Given the description of an element on the screen output the (x, y) to click on. 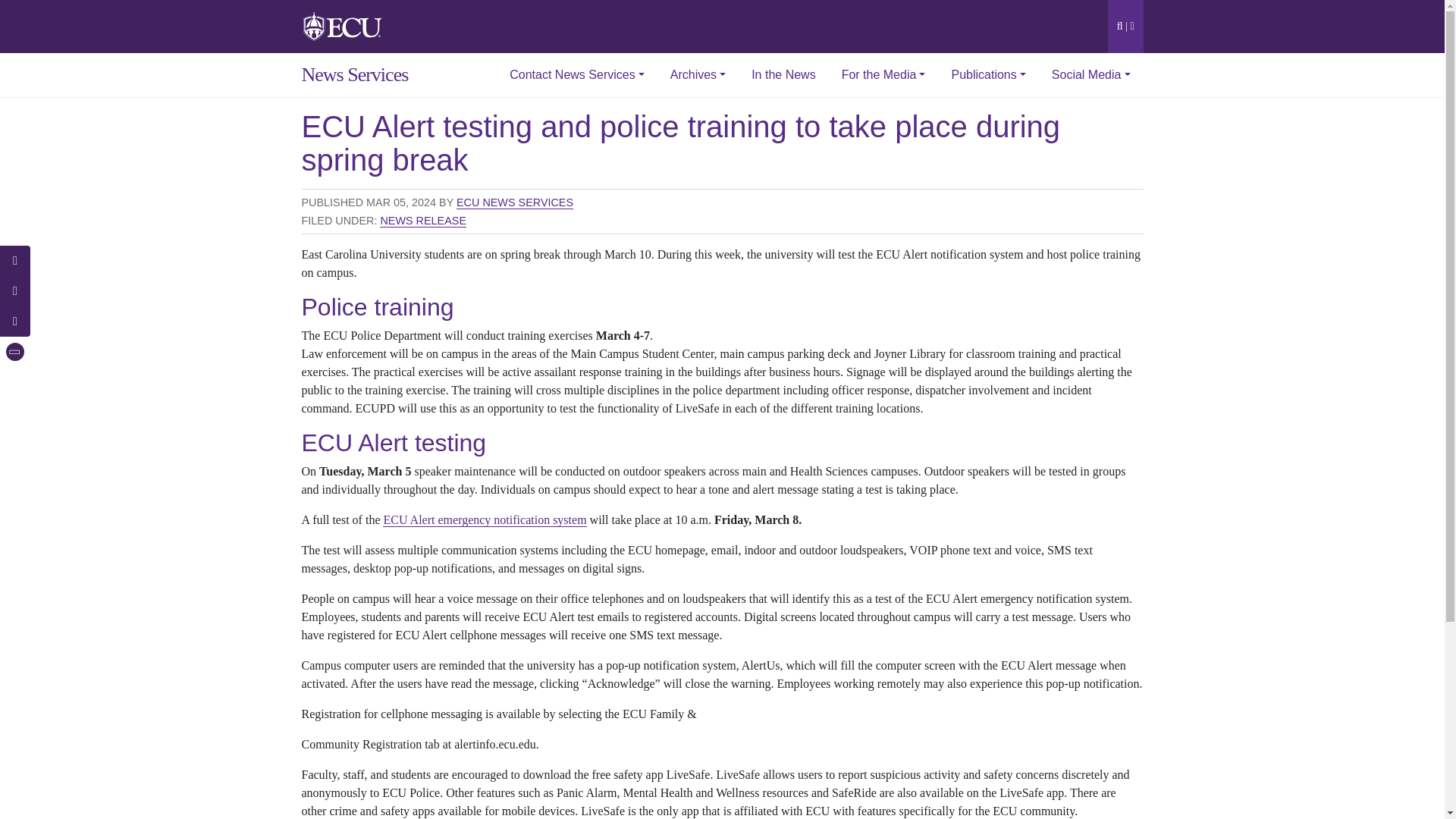
East Carolina University (342, 24)
Archives (698, 75)
News Services (346, 75)
Publications (987, 75)
Contact News Services (576, 75)
In the News (783, 75)
Archives (698, 75)
For the Media (883, 75)
In the News (783, 75)
For the Media (883, 75)
